Given the description of an element on the screen output the (x, y) to click on. 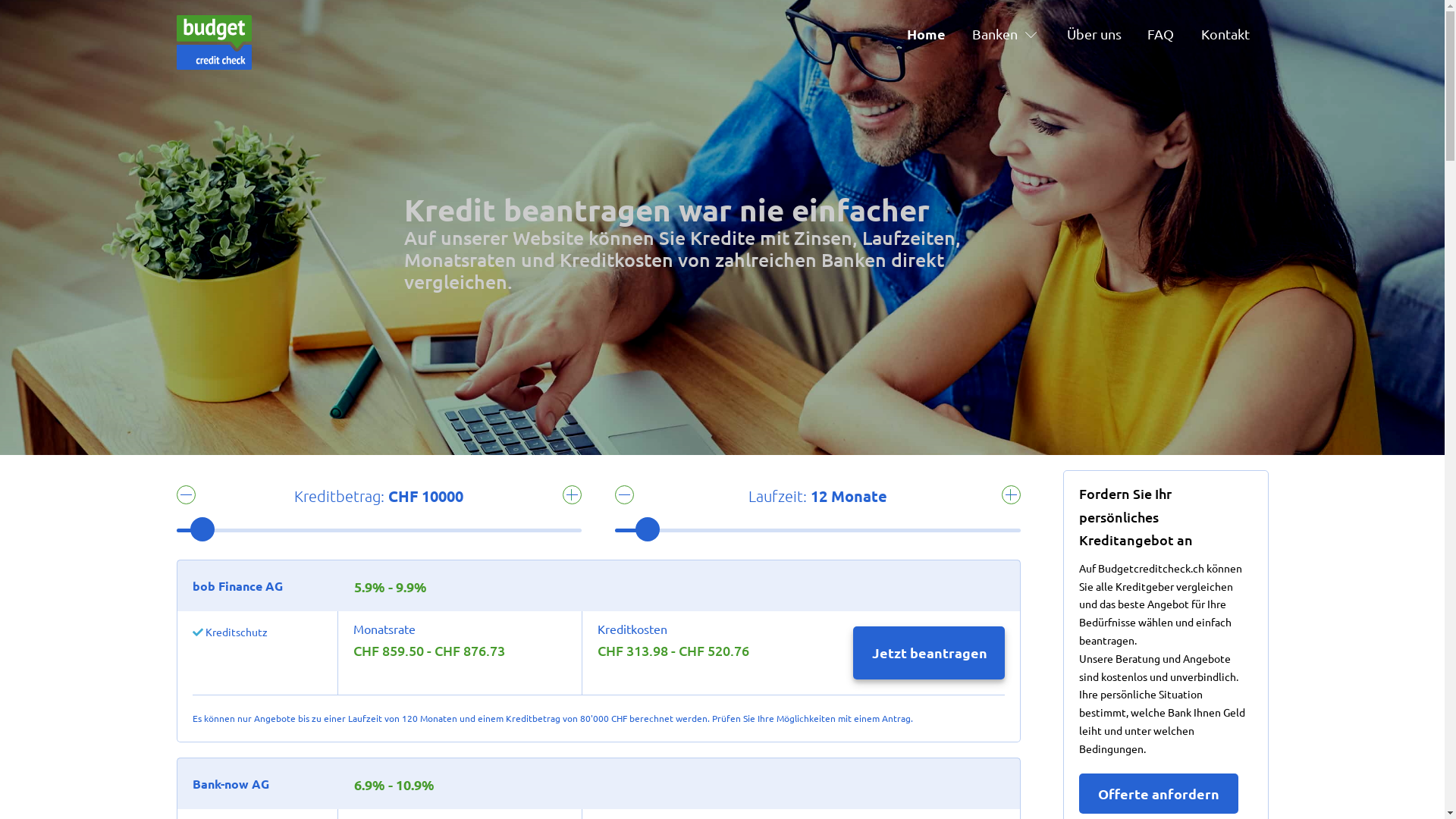
FAQ Element type: text (1174, 34)
Offerte anfordern Element type: text (1158, 793)
Banken Element type: text (1010, 34)
Home Element type: text (939, 34)
Kontakt Element type: text (1238, 34)
Jetzt beantragen Element type: text (928, 652)
